Given the description of an element on the screen output the (x, y) to click on. 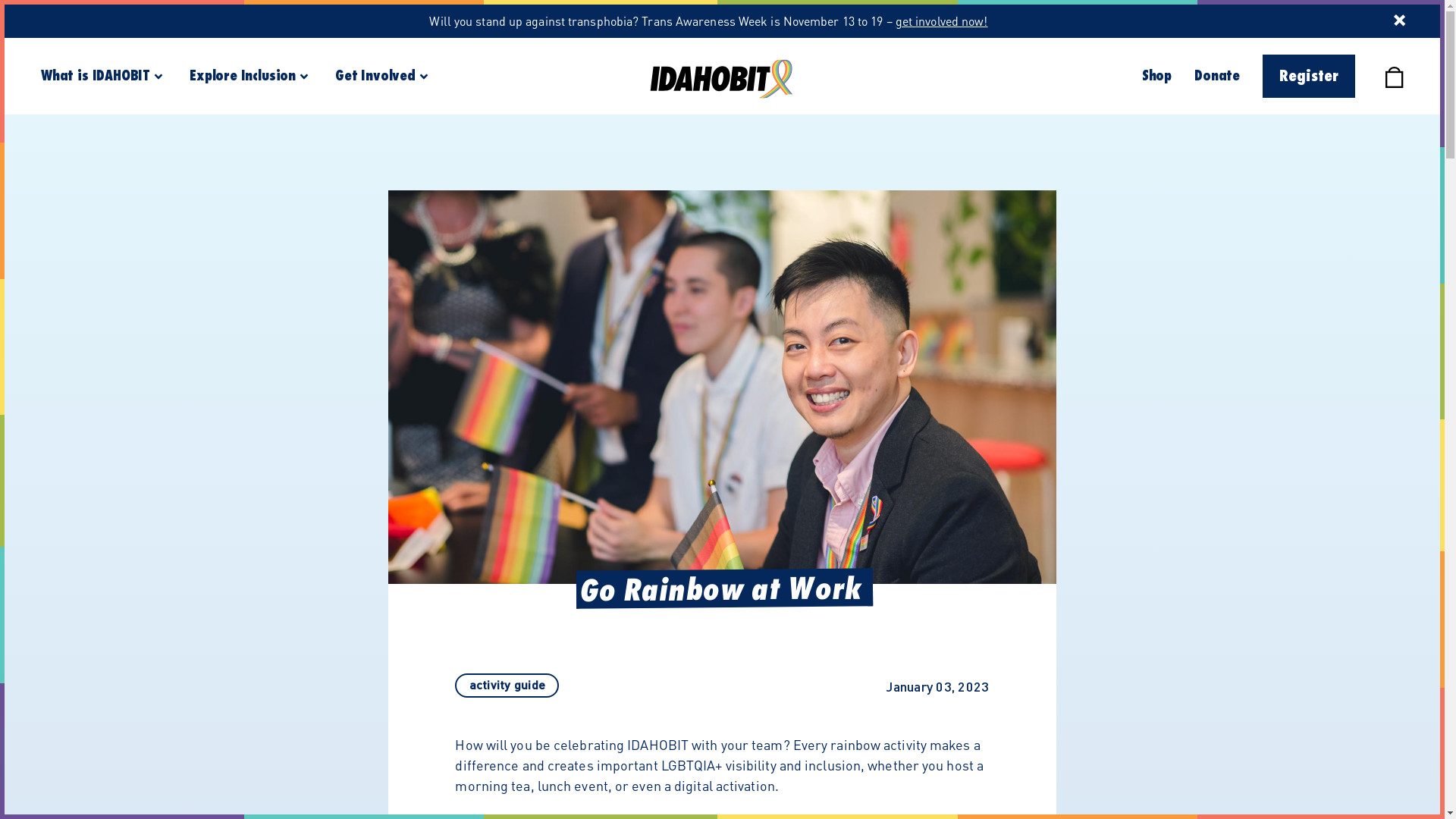
get involved now! Element type: text (941, 20)
activity guide Element type: text (506, 684)
Shop Element type: text (1156, 75)
Register Element type: text (1308, 75)
Donate Element type: text (1216, 75)
